Given the description of an element on the screen output the (x, y) to click on. 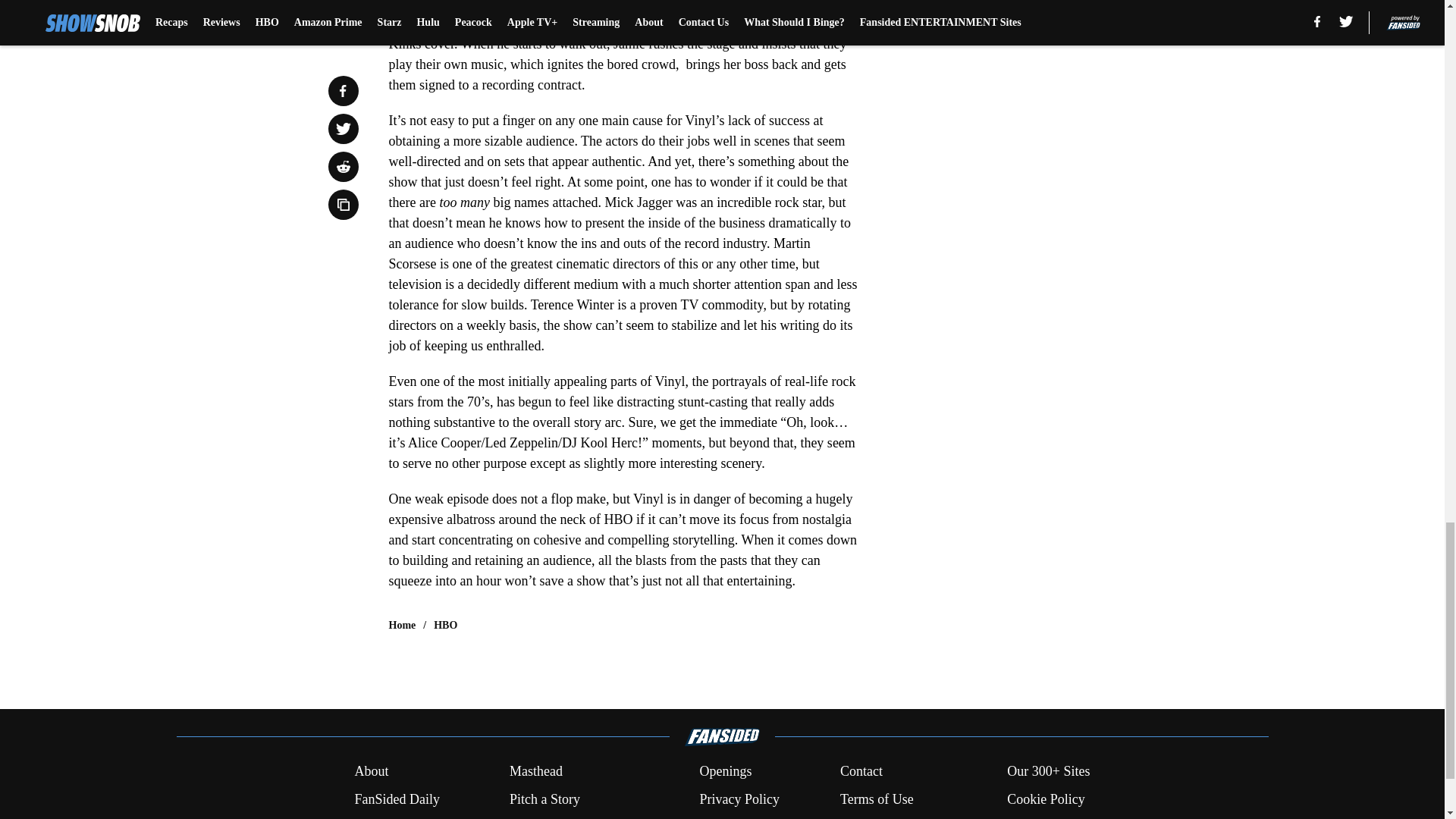
About (370, 771)
FanSided Daily (396, 799)
Pitch a Story (544, 799)
Legal Disclaimer (400, 818)
Home (401, 625)
Masthead (535, 771)
Openings (724, 771)
HBO (445, 625)
Terms of Use (877, 799)
A-Z Index (726, 818)
Privacy Policy (738, 799)
Accessibility Statement (574, 818)
Cookie Policy (1045, 799)
Contact (861, 771)
